Given the description of an element on the screen output the (x, y) to click on. 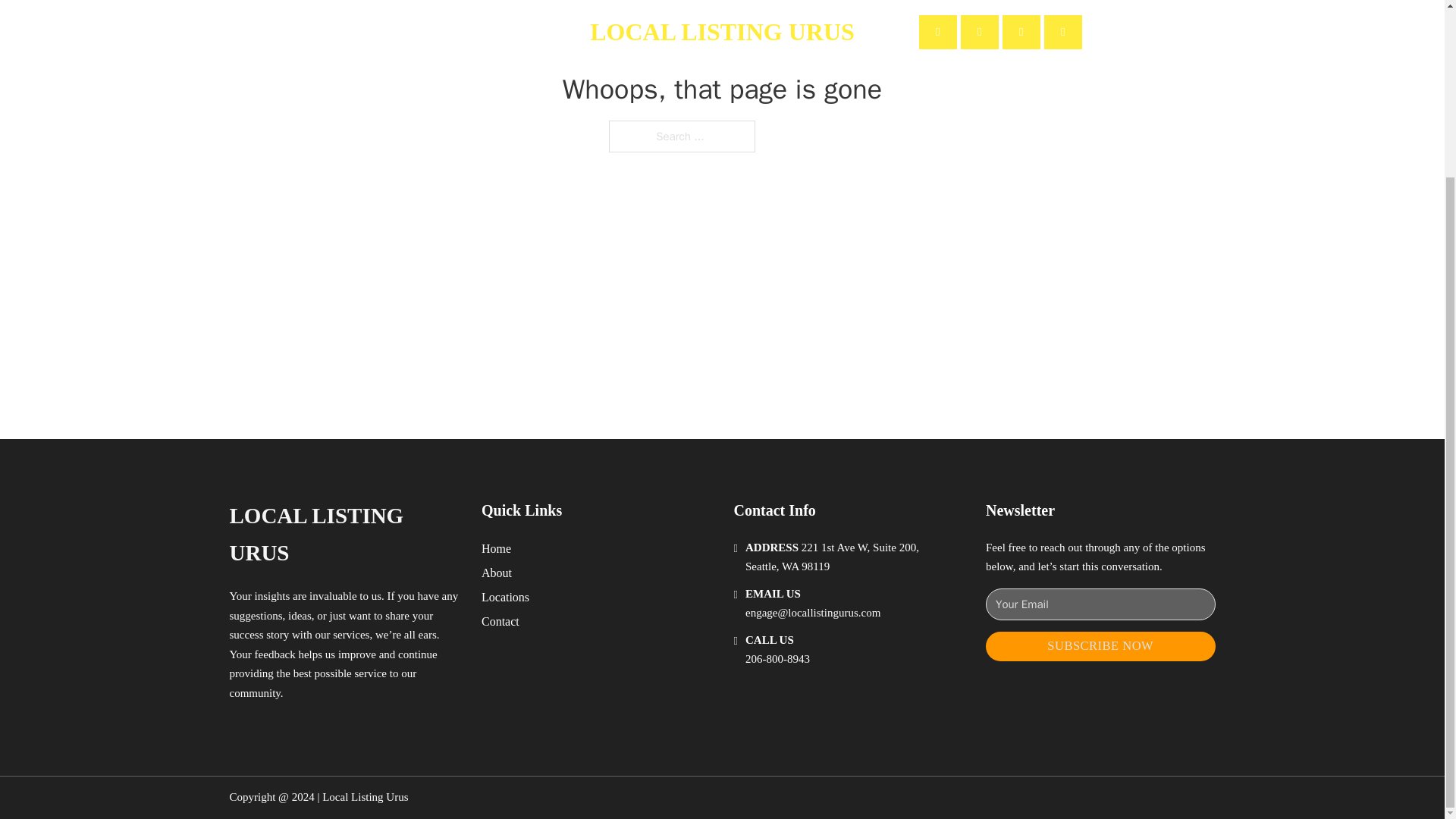
Contact (500, 620)
Locations (505, 597)
Home (496, 548)
LOCAL LISTING URUS (343, 534)
About (496, 572)
SUBSCRIBE NOW (1100, 645)
206-800-8943 (777, 658)
